Given the description of an element on the screen output the (x, y) to click on. 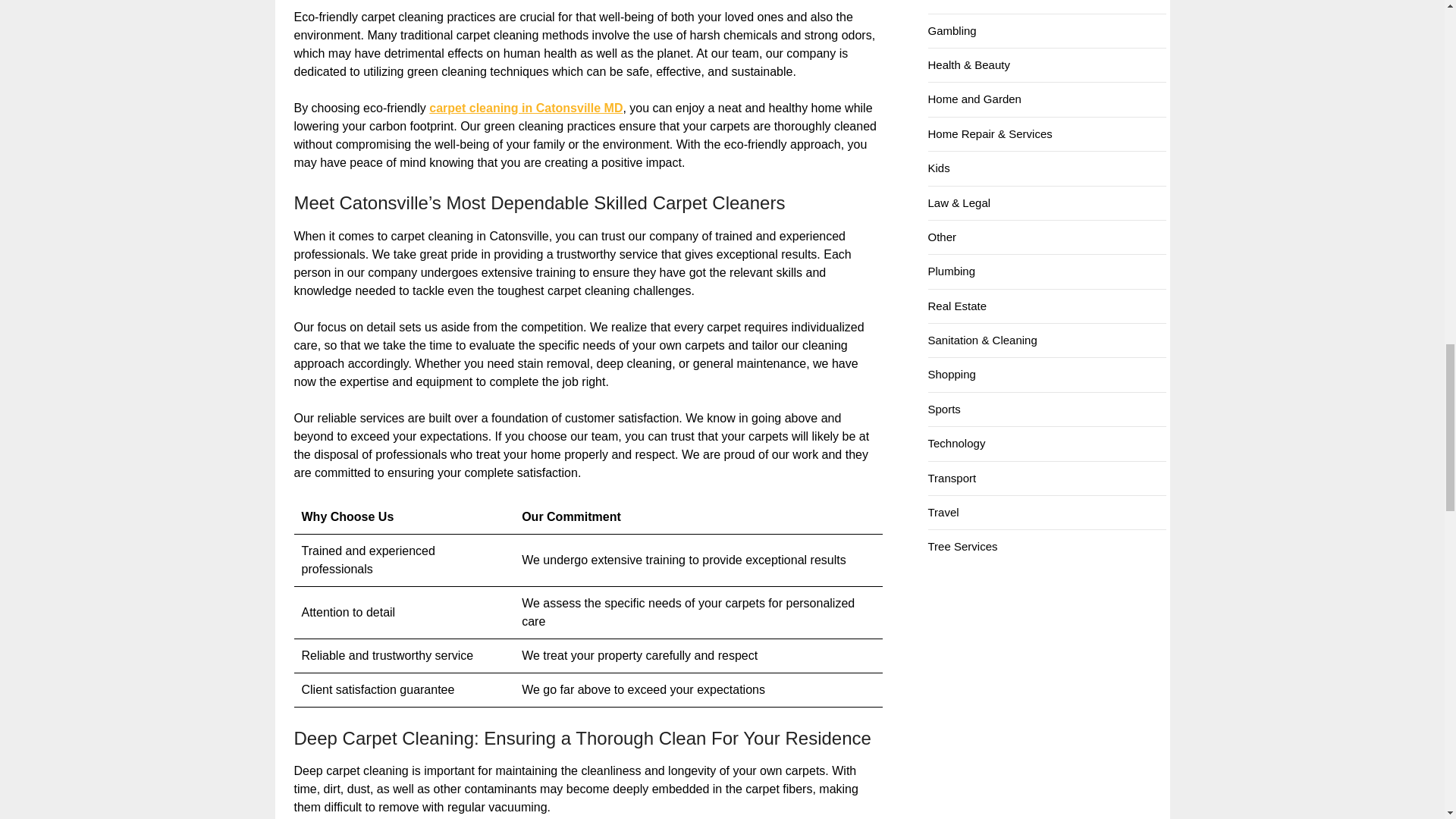
carpet cleaning in Catonsville MD (526, 107)
